Given the description of an element on the screen output the (x, y) to click on. 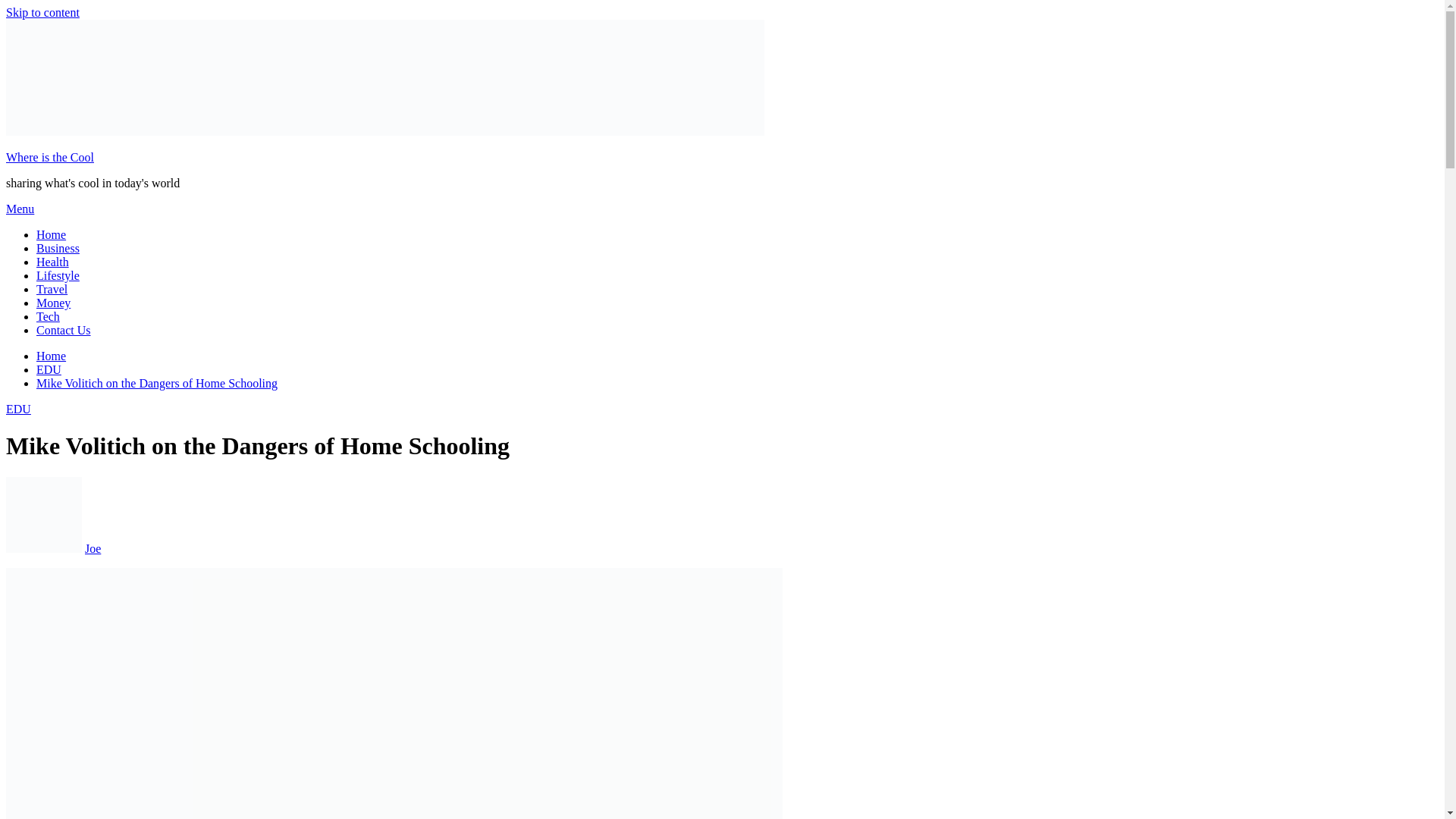
Health (52, 261)
Money (52, 302)
EDU (48, 369)
Skip to content (42, 11)
Joe (92, 548)
EDU (17, 408)
Home (50, 355)
Where is the Cool (49, 156)
Contact Us (63, 329)
Travel (51, 288)
Tech (47, 316)
Business (58, 247)
Mike Volitich on the Dangers of Home Schooling (157, 382)
Lifestyle (58, 275)
Home (50, 234)
